Given the description of an element on the screen output the (x, y) to click on. 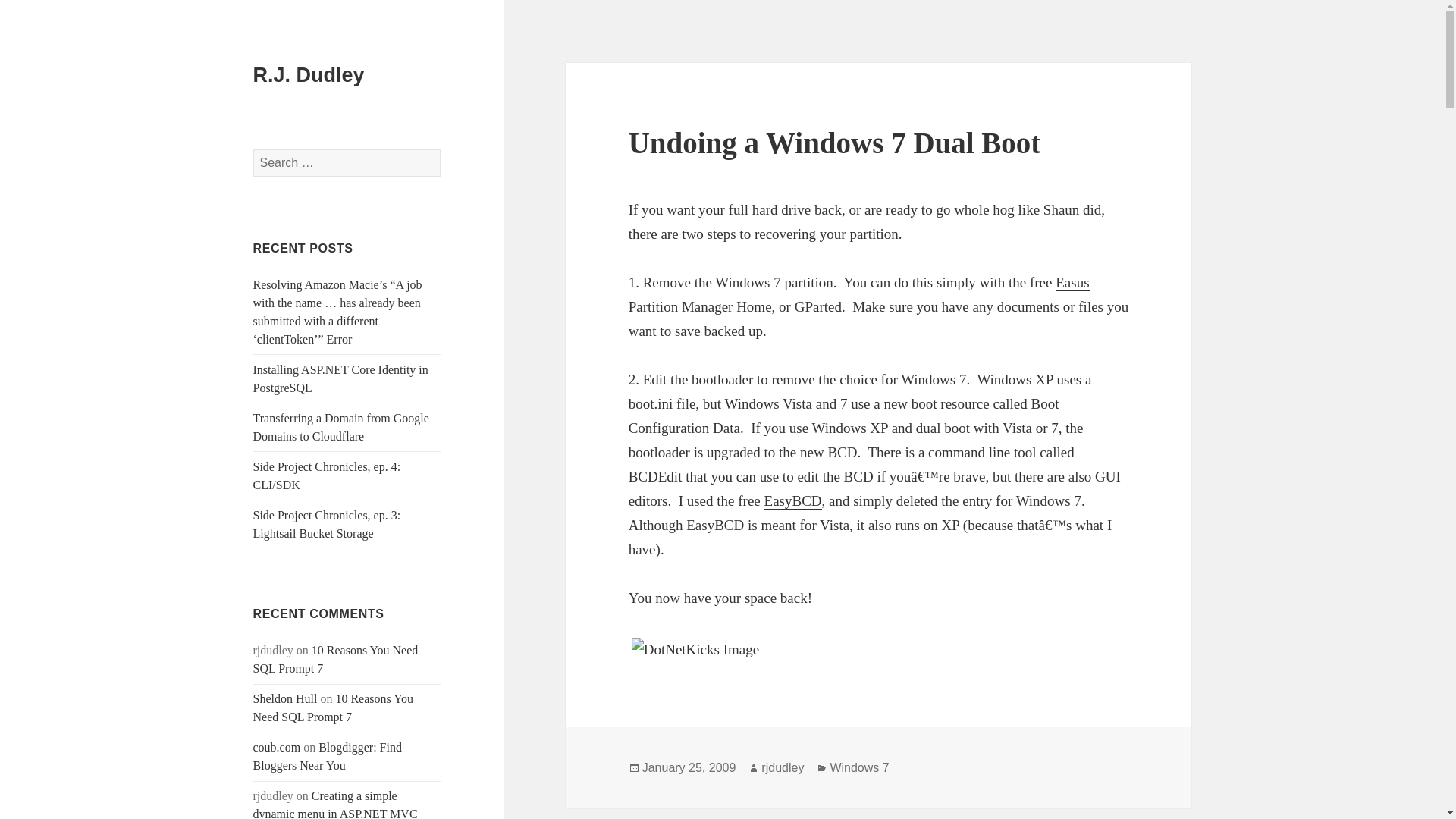
coub.com (277, 747)
R.J. Dudley (309, 74)
10 Reasons You Need SQL Prompt 7 (333, 707)
Blogdigger: Find Bloggers Near You (327, 756)
10 Reasons You Need SQL Prompt 7 (336, 658)
Sheldon Hull (285, 698)
Installing ASP.NET Core Identity in PostgreSQL (340, 378)
